Given the description of an element on the screen output the (x, y) to click on. 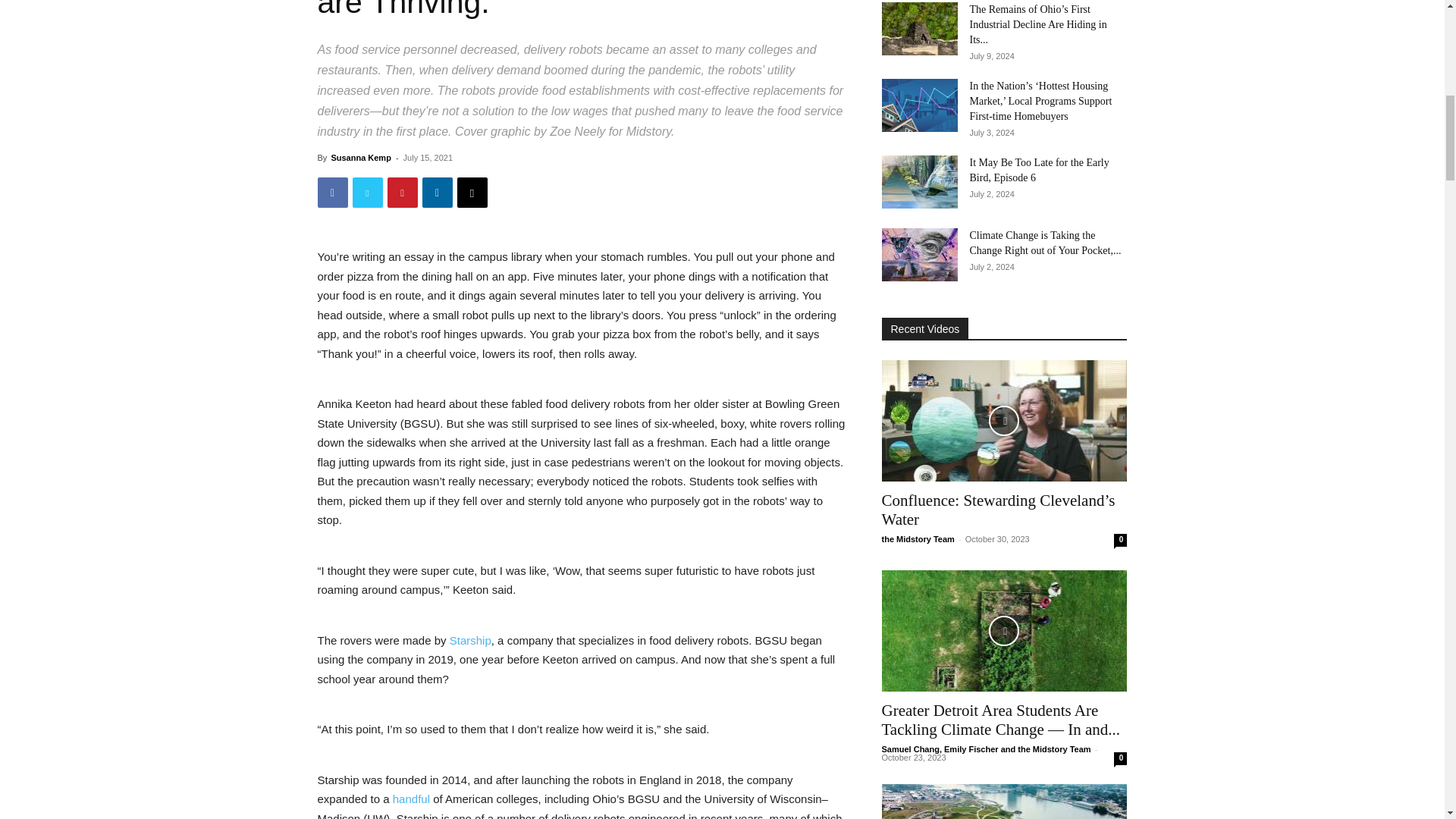
Pinterest (401, 192)
Email (471, 192)
Facebook (332, 192)
Twitter (366, 192)
Linkedin (436, 192)
